Given the description of an element on the screen output the (x, y) to click on. 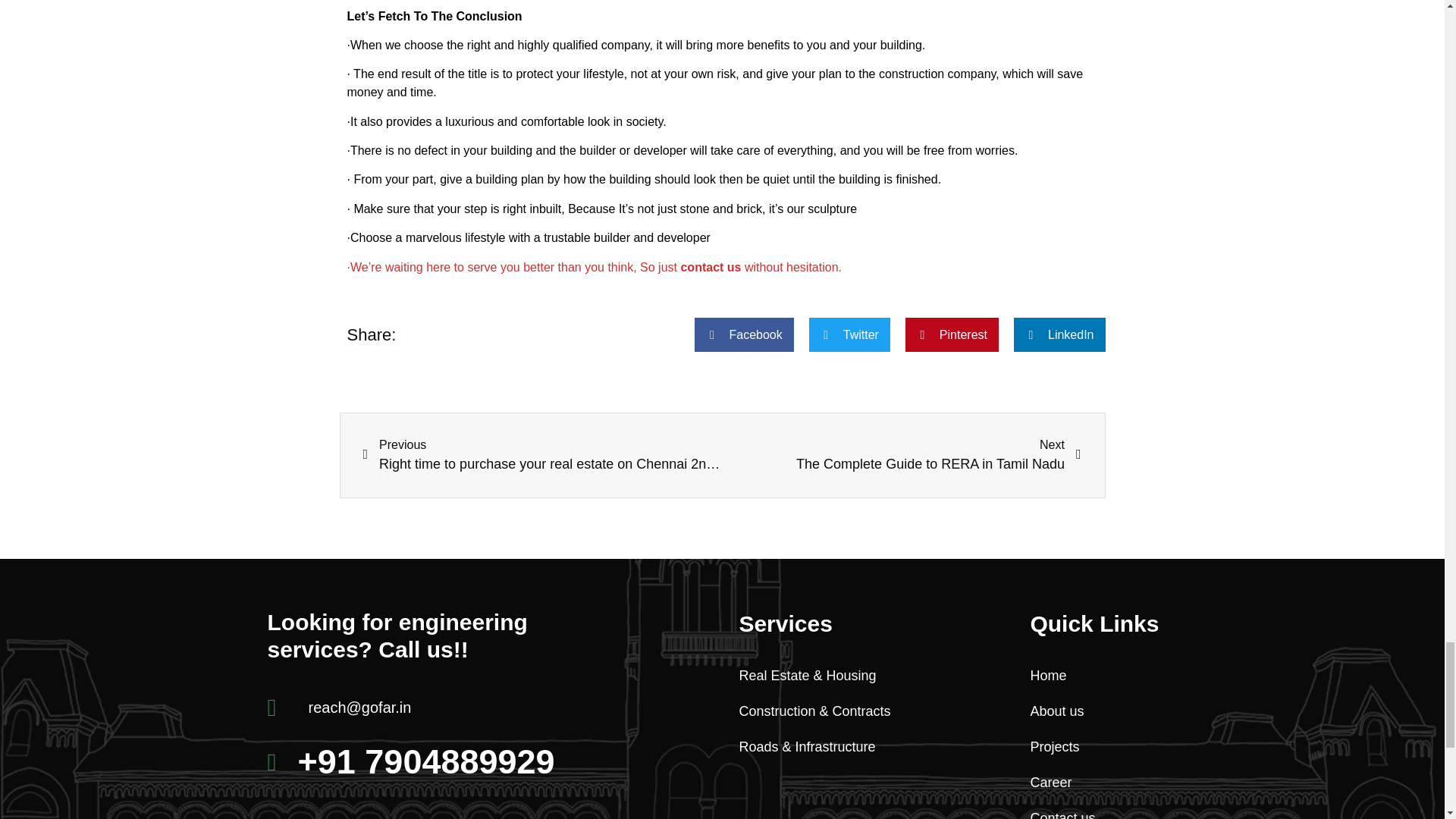
Career (938, 455)
Home (1101, 783)
Projects (1101, 675)
Contact us (1101, 747)
About us (1101, 813)
contact us (1101, 711)
